Given the description of an element on the screen output the (x, y) to click on. 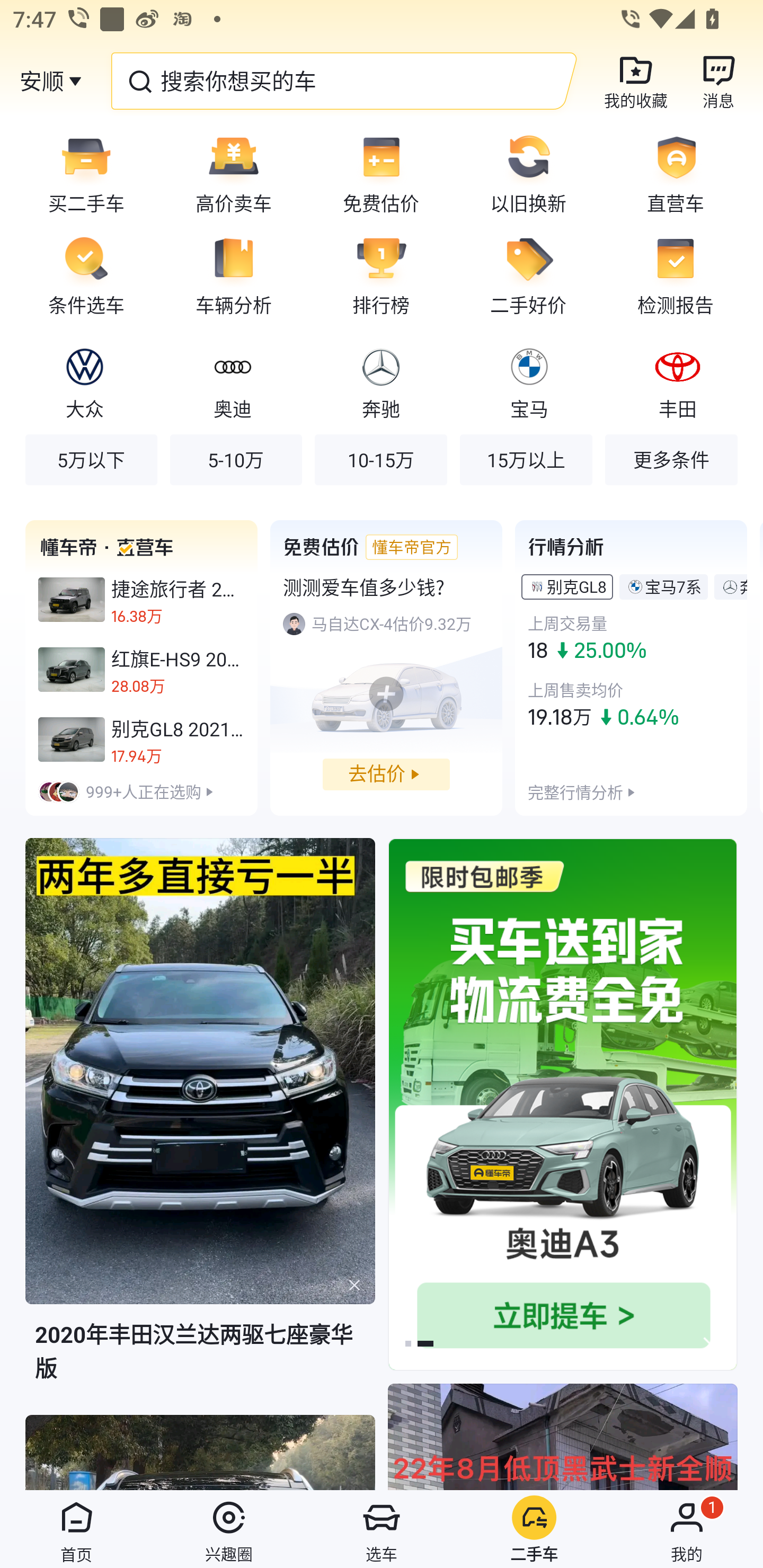
我的收藏 (635, 80)
安顺 (41, 80)
买二手车 (80, 172)
高价卖车 (233, 172)
免费估价 (380, 172)
以旧换新 (528, 172)
直营车 (682, 172)
条件选车 (80, 274)
车辆分析 (233, 274)
排行榜 (380, 274)
二手好价 (528, 274)
检测报告 (682, 274)
大众 (84, 381)
奥迪 (232, 381)
奔驰 (380, 381)
宝马 (529, 381)
丰田 (677, 381)
5万以下 (91, 459)
5-10万 (236, 459)
10-15万 (380, 459)
15万以上 (526, 459)
更多条件 (671, 459)
测测爱车值多少钱? 马自达CX-4估价9.32万 去估价  (386, 667)
捷途旅行者 2023款 2.0TD 四驱 穿越PRO+ 16.38万 (141, 599)
别克GL8 (576, 585)
宝马7系 (672, 585)
红旗E-HS9 2020款 460km 旗享版 六座 28.08万 (141, 669)
别克GL8 2021款 陆上公务舱 652T 豪华型 17.94万 (141, 739)
999+人正在选购 (141, 791)
完整行情分析 (575, 791)
2020年丰田汉兰达两驱七座豪华版 (200, 1125)
 首页 (76, 1528)
 兴趣圈 (228, 1528)
 选车 (381, 1528)
二手车 (533, 1528)
 我的 (686, 1528)
